Given the description of an element on the screen output the (x, y) to click on. 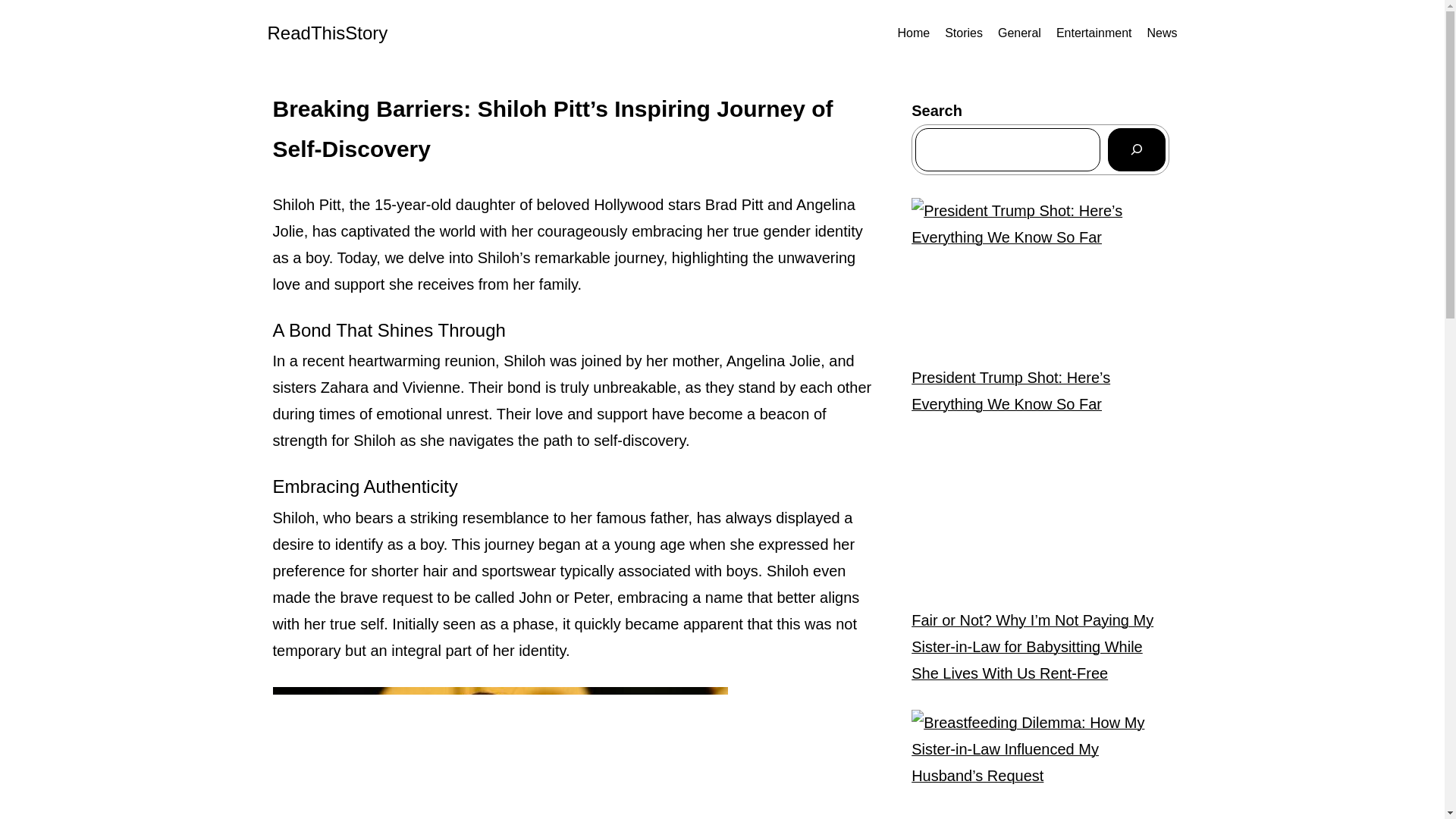
ReadThisStory (326, 32)
Stories (963, 33)
News (1161, 33)
Entertainment (1094, 33)
General (1019, 33)
Home (913, 33)
